Given the description of an element on the screen output the (x, y) to click on. 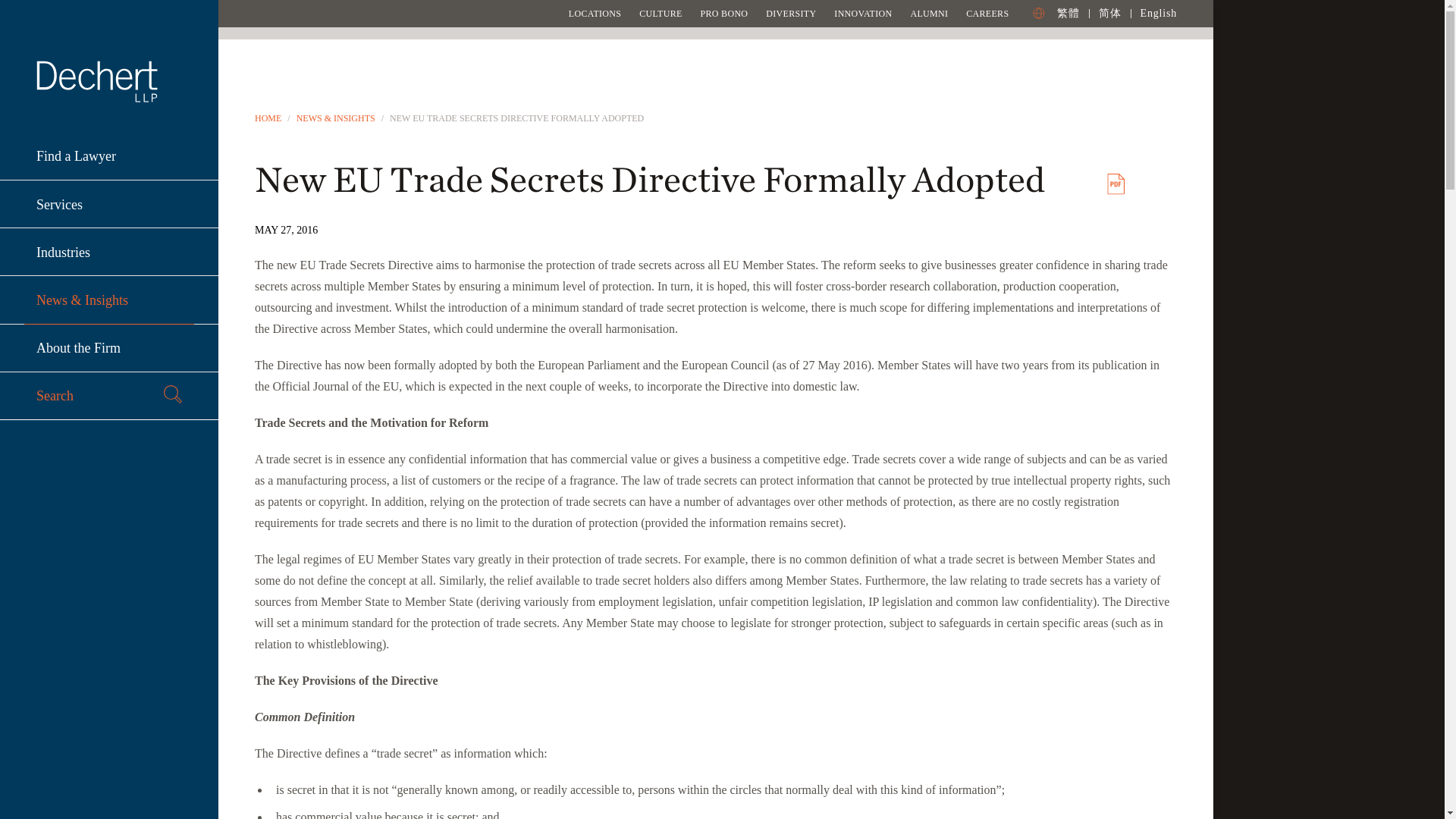
Find a Lawyer (108, 156)
INNOVATION (862, 13)
Traditional Chinese (1068, 12)
CAREERS (987, 13)
CULTURE (660, 13)
PRO BONO (724, 13)
Services (108, 204)
LOCATIONS (595, 13)
English (1158, 12)
About the Firm (108, 348)
Simplified Chinese (1110, 12)
Industries (108, 252)
ALUMNI (928, 13)
HOME (267, 118)
DIVERSITY (790, 13)
